Given the description of an element on the screen output the (x, y) to click on. 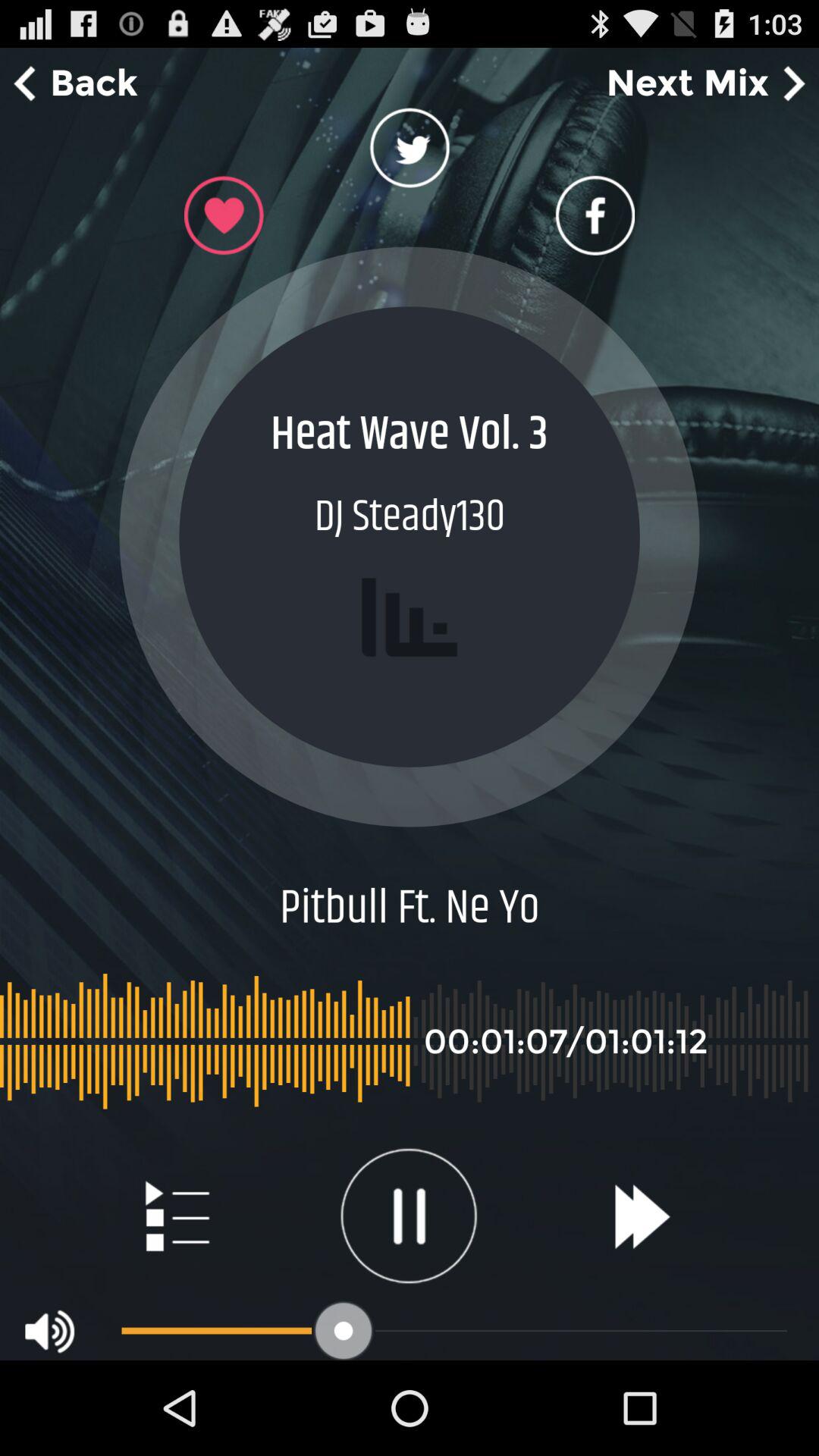
menu settings link (175, 1215)
